Given the description of an element on the screen output the (x, y) to click on. 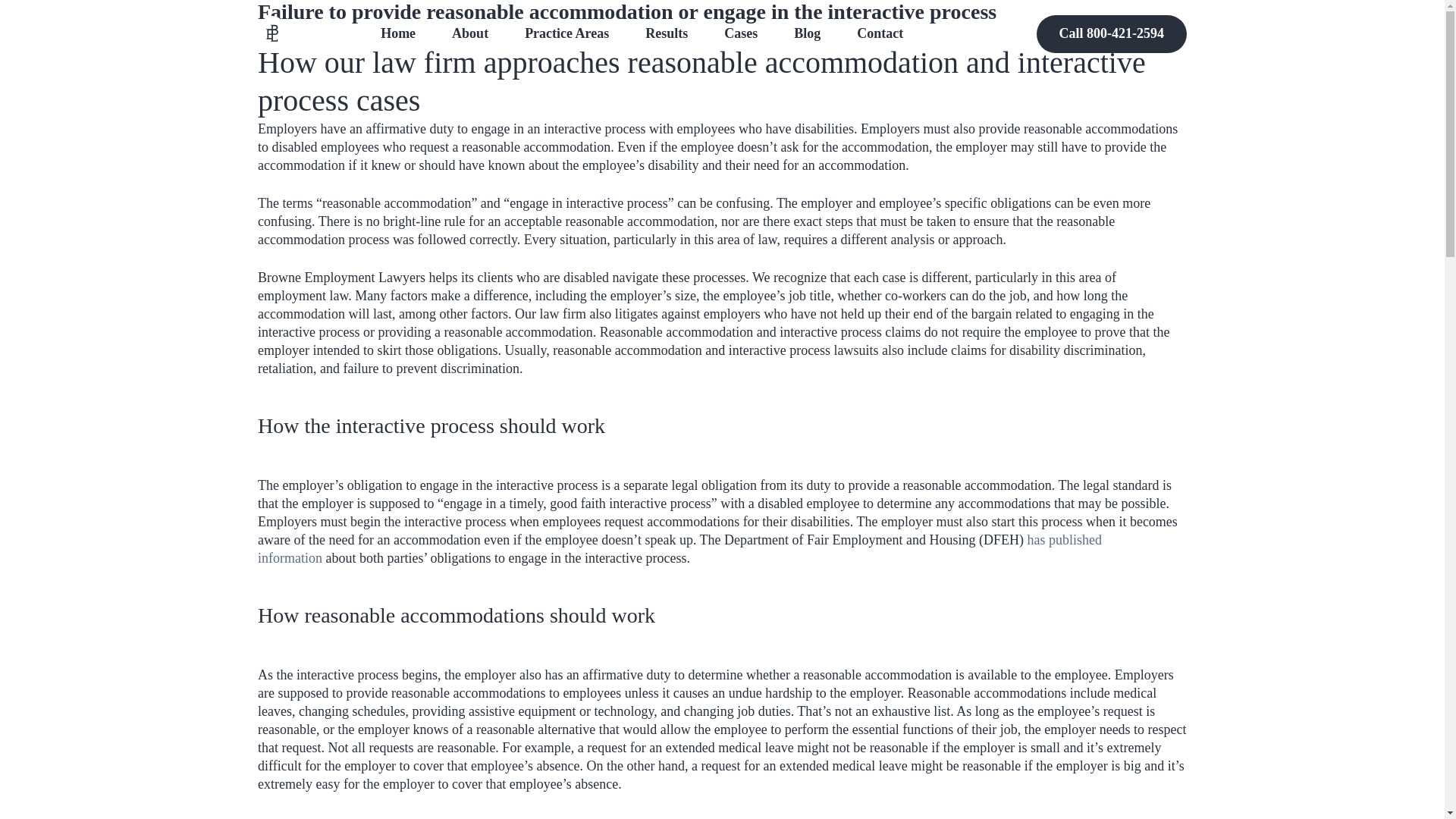
has published information (679, 548)
Home (397, 34)
Practice Areas (566, 34)
Contact (879, 34)
Call 800-421-2594 (1110, 34)
Cases (740, 34)
Blog (807, 34)
Results (666, 34)
About (469, 34)
